Given the description of an element on the screen output the (x, y) to click on. 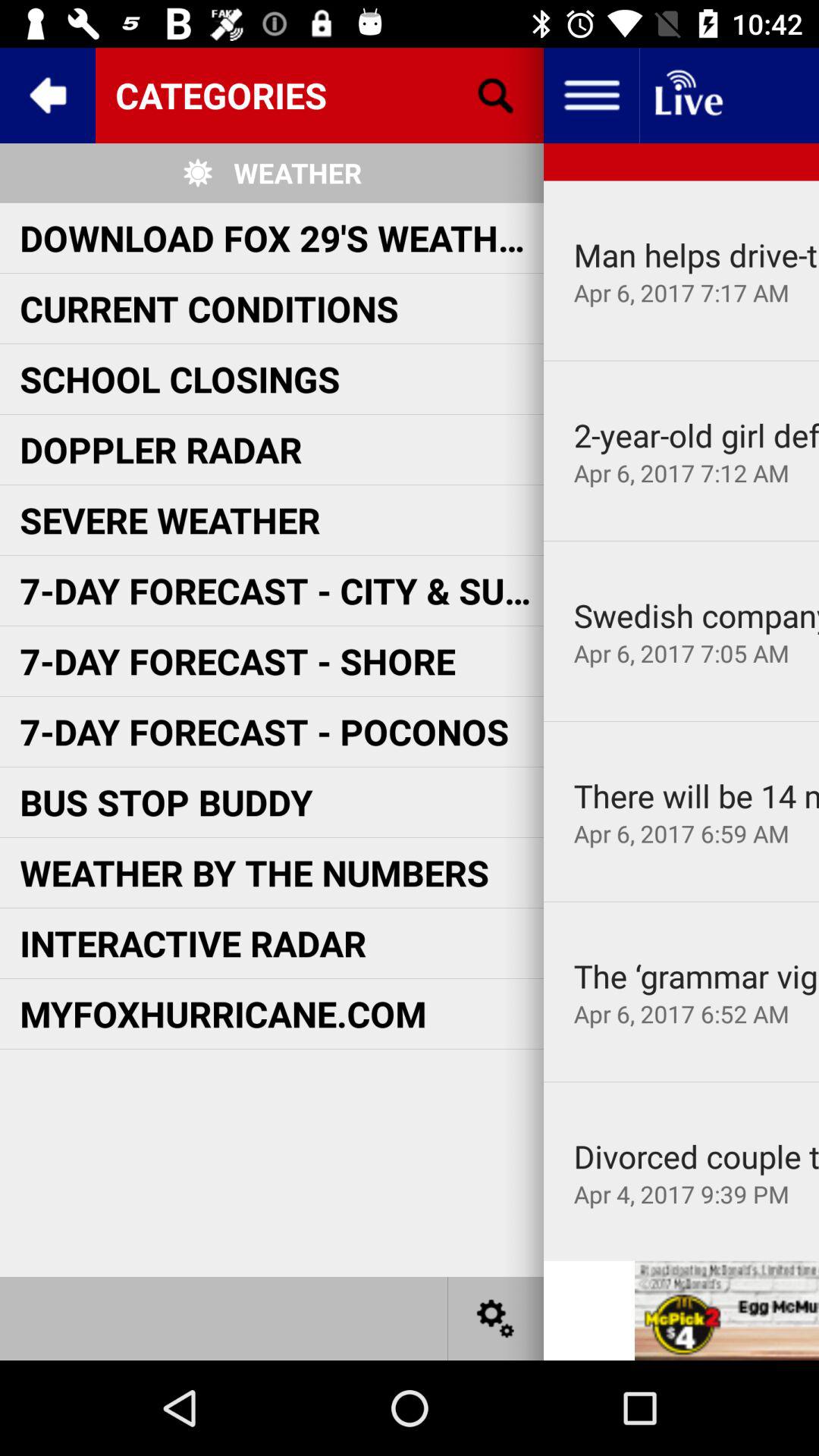
start search (495, 95)
